Given the description of an element on the screen output the (x, y) to click on. 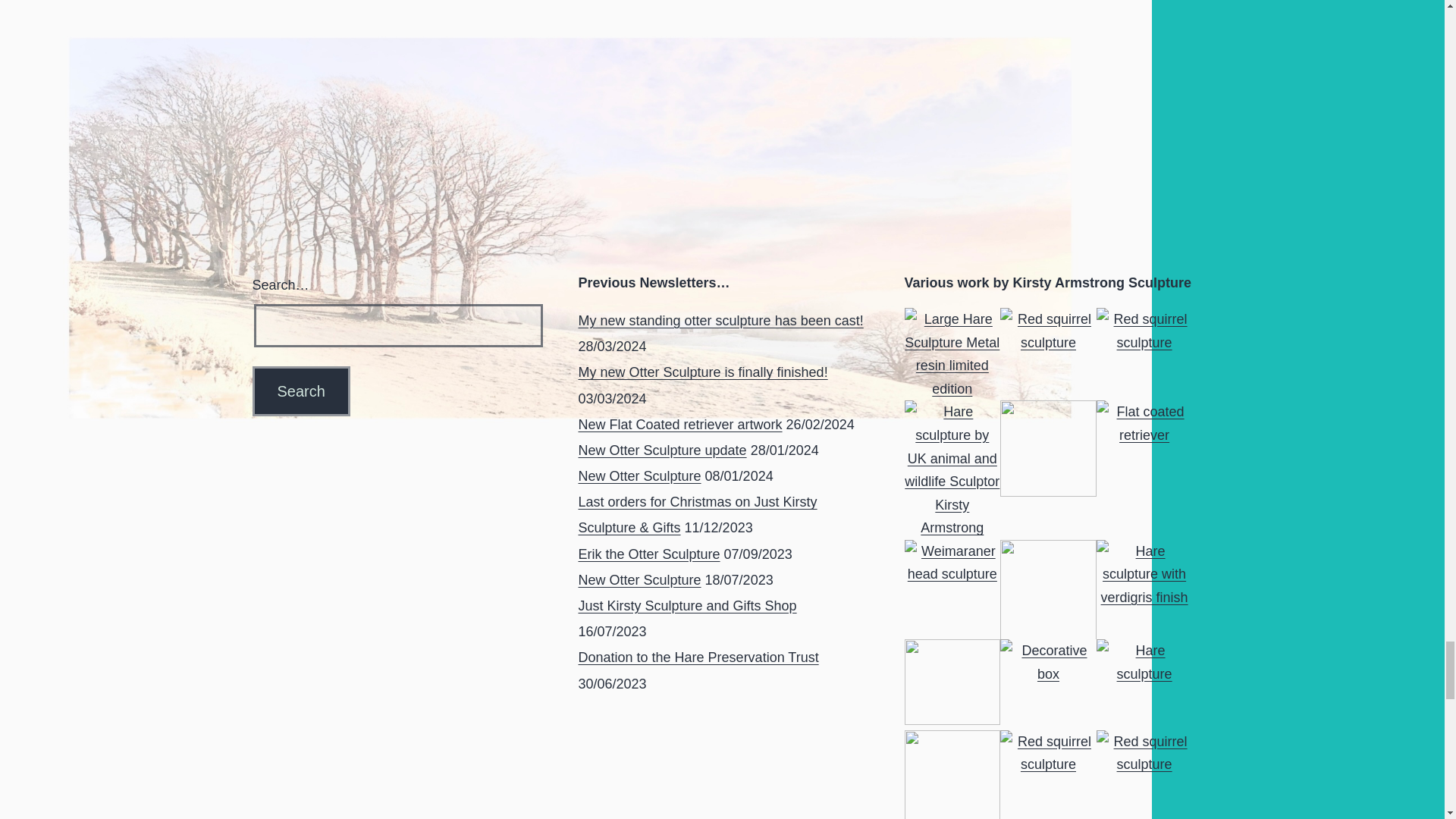
Search (300, 391)
Search (300, 391)
